Given the description of an element on the screen output the (x, y) to click on. 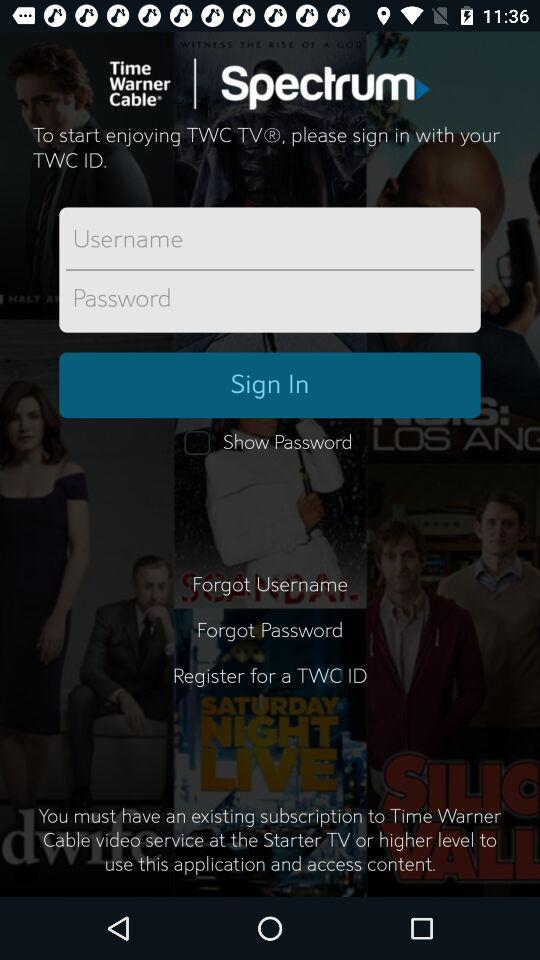
click the register for a icon (270, 688)
